Given the description of an element on the screen output the (x, y) to click on. 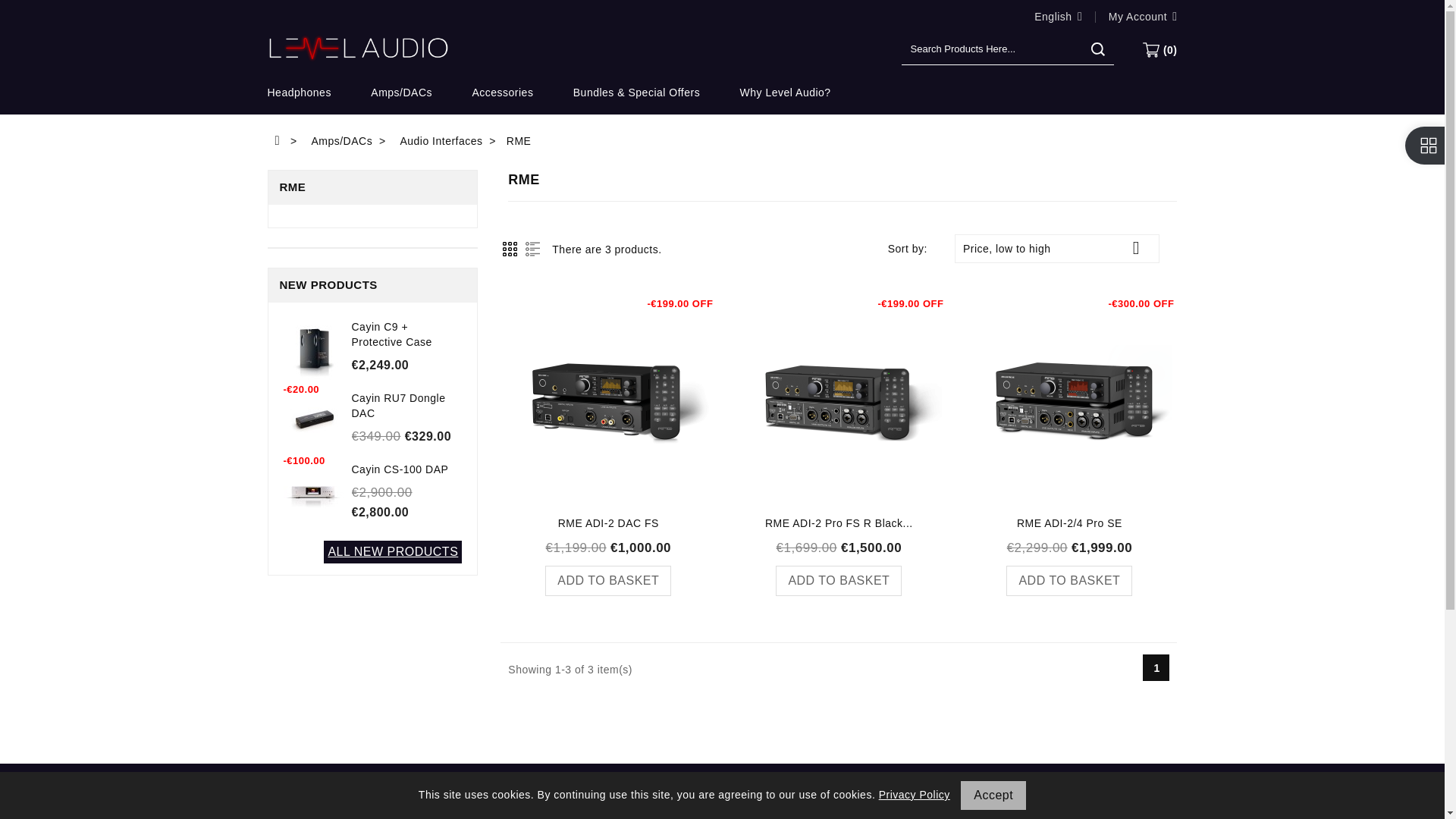
Grid (510, 248)
List (532, 248)
